Given the description of an element on the screen output the (x, y) to click on. 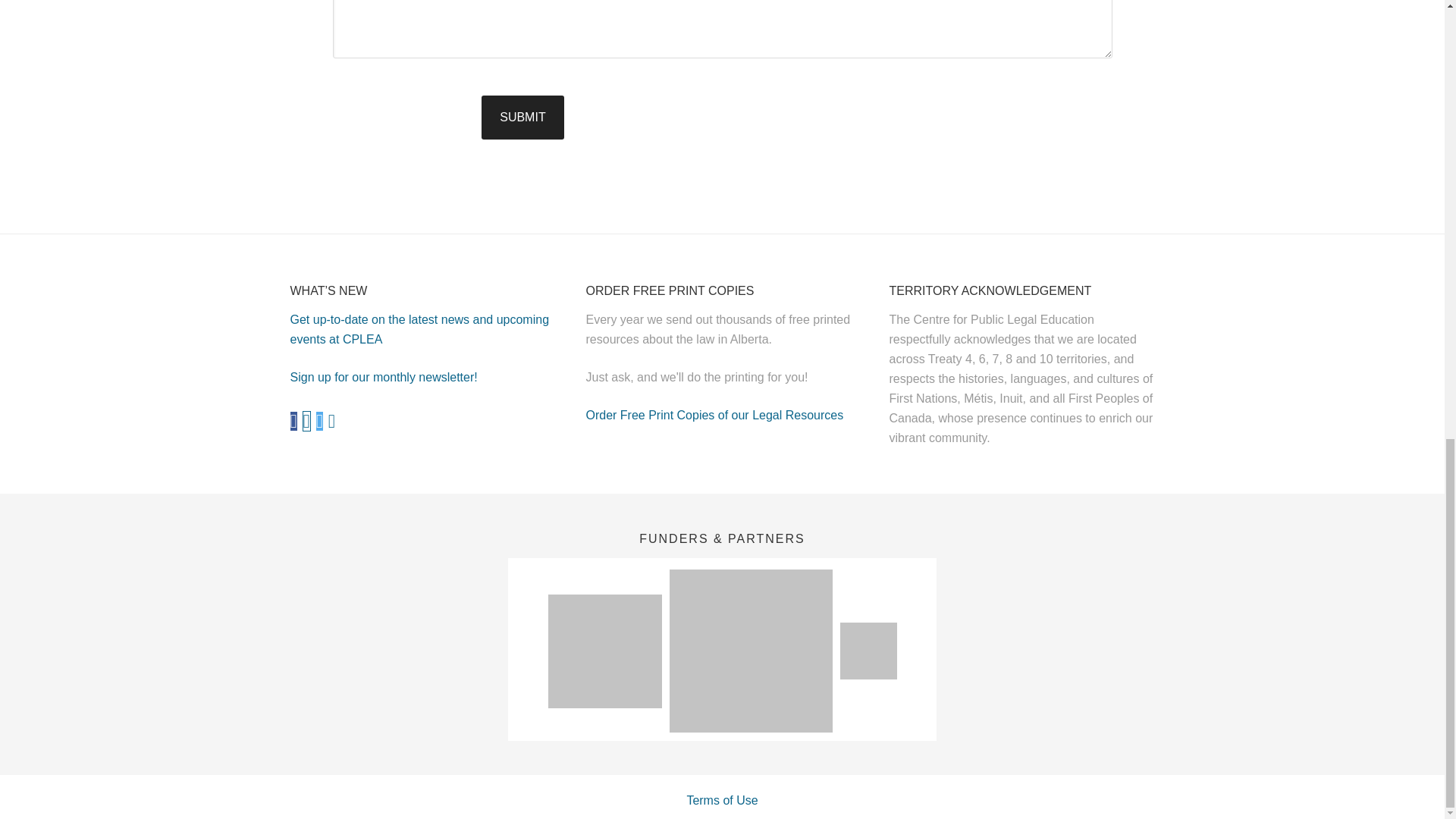
Submit (522, 117)
Submit (522, 117)
Order Free Print Copies of our Legal Resources (714, 414)
Sign up for our monthly newsletter! (383, 377)
